Given the description of an element on the screen output the (x, y) to click on. 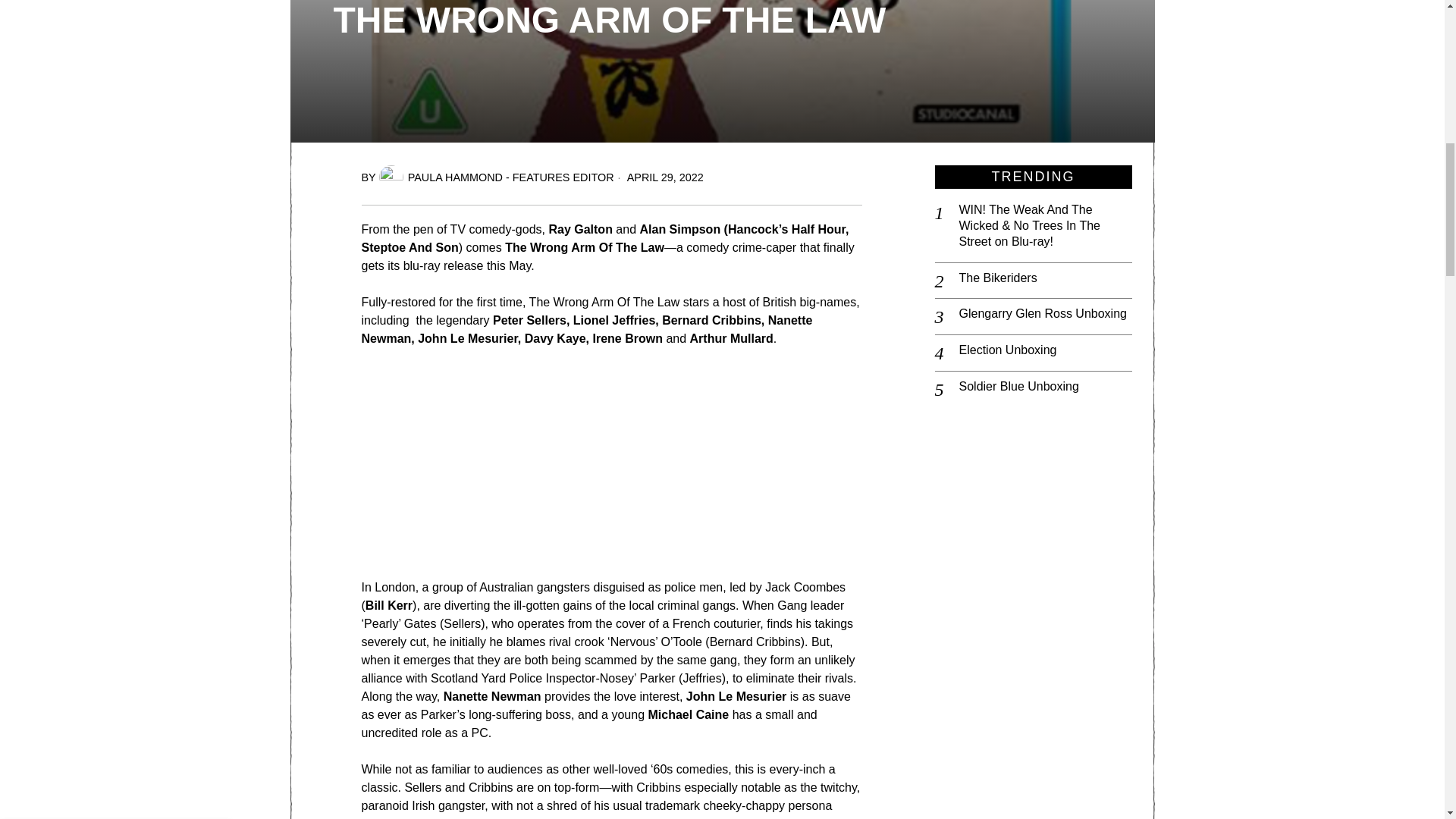
Advertisement (634, 472)
PAULA HAMMOND - FEATURES EDITOR (496, 177)
29 Apr, 2022 13:39:56 (1396, 22)
